Given the description of an element on the screen output the (x, y) to click on. 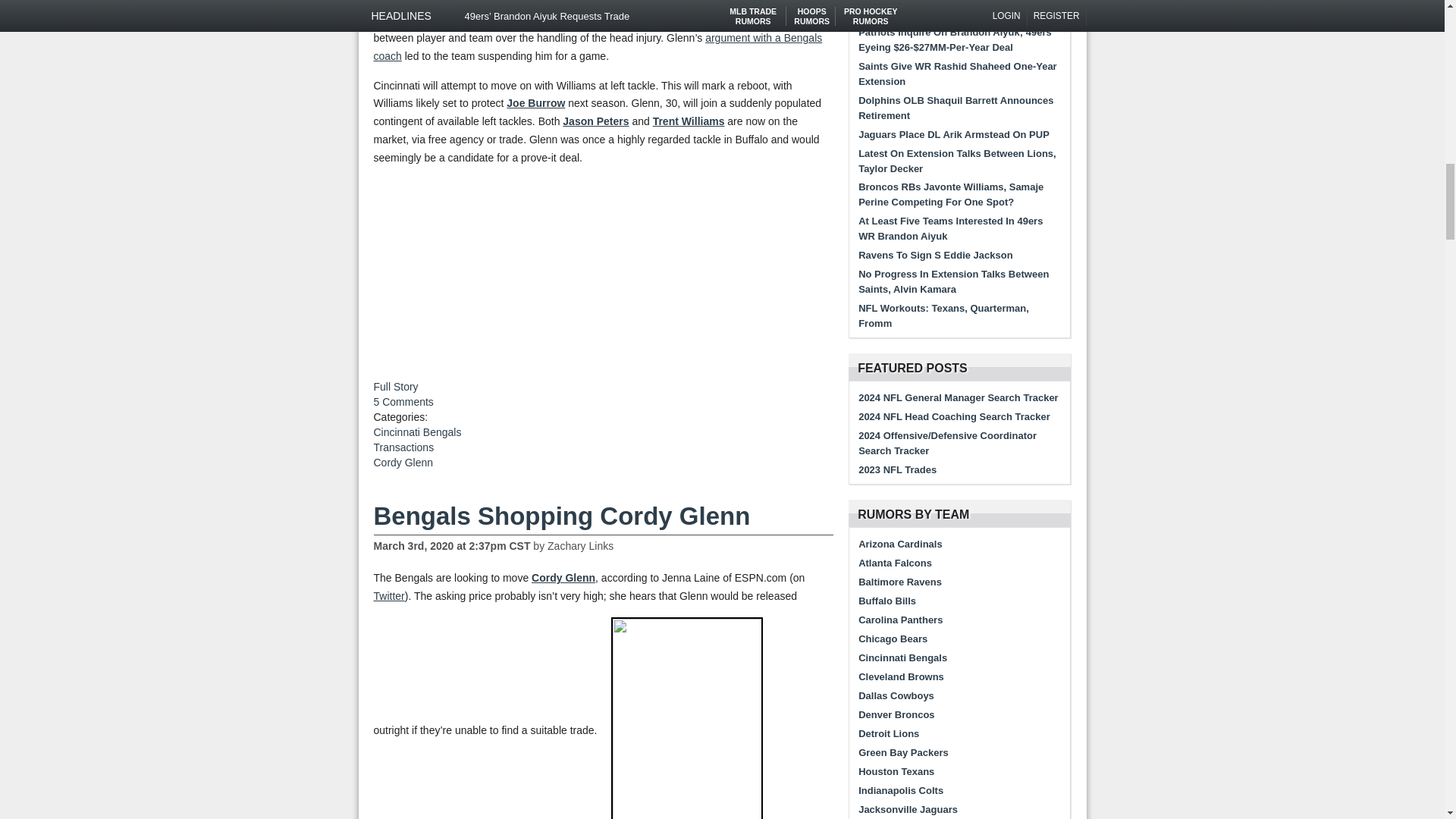
View all posts in Transactions (402, 447)
View all posts in Cordy Glenn (402, 462)
View all posts in Cincinnati Bengals (416, 431)
